Given the description of an element on the screen output the (x, y) to click on. 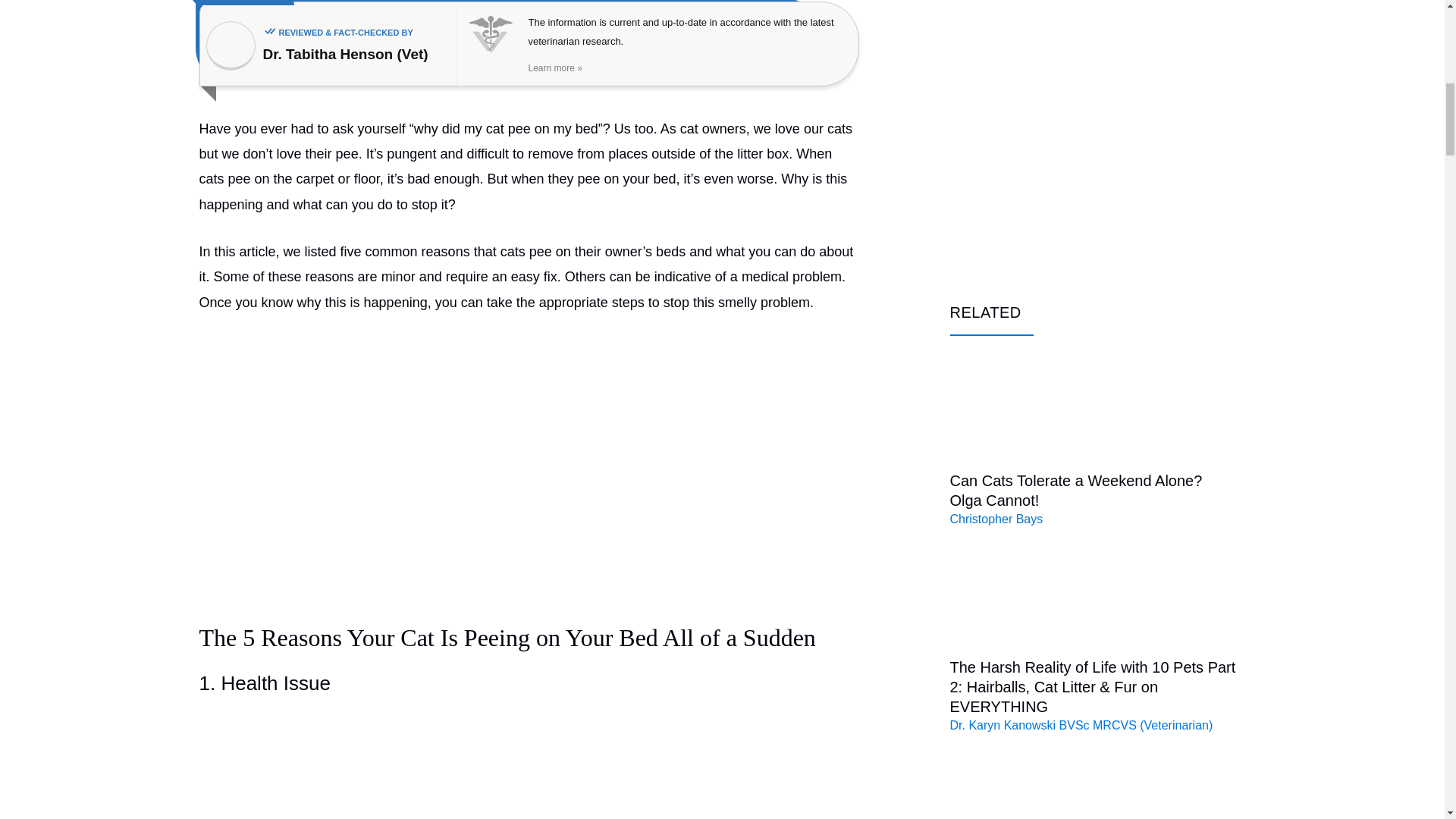
Vet photo (231, 45)
